Given the description of an element on the screen output the (x, y) to click on. 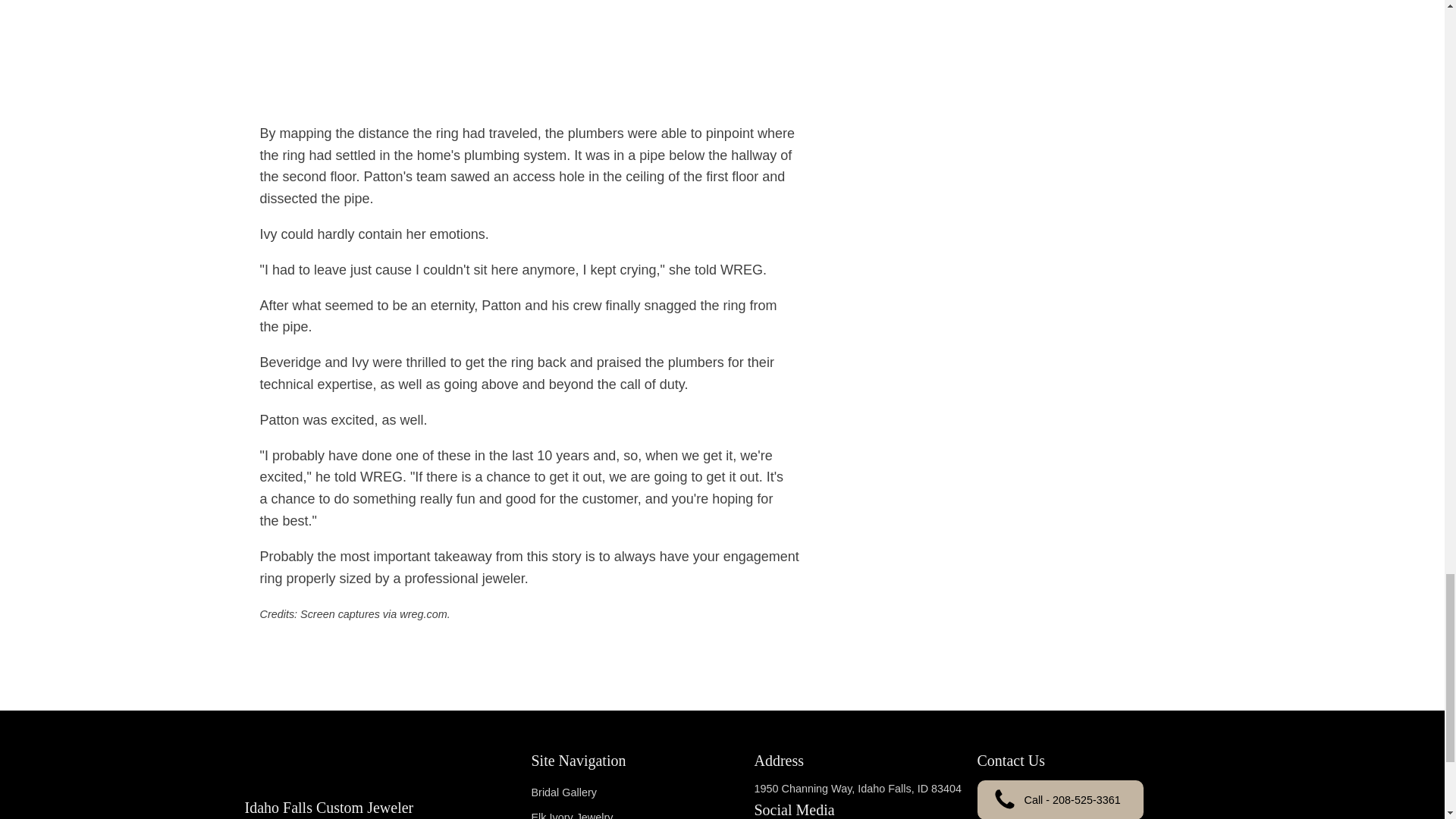
1950 Channing Way, Idaho Falls, ID 83404 (857, 788)
Call - 208-525-3361 (1059, 799)
Bridal Gallery (598, 792)
Elk Ivory Jewelry (598, 812)
